Given the description of an element on the screen output the (x, y) to click on. 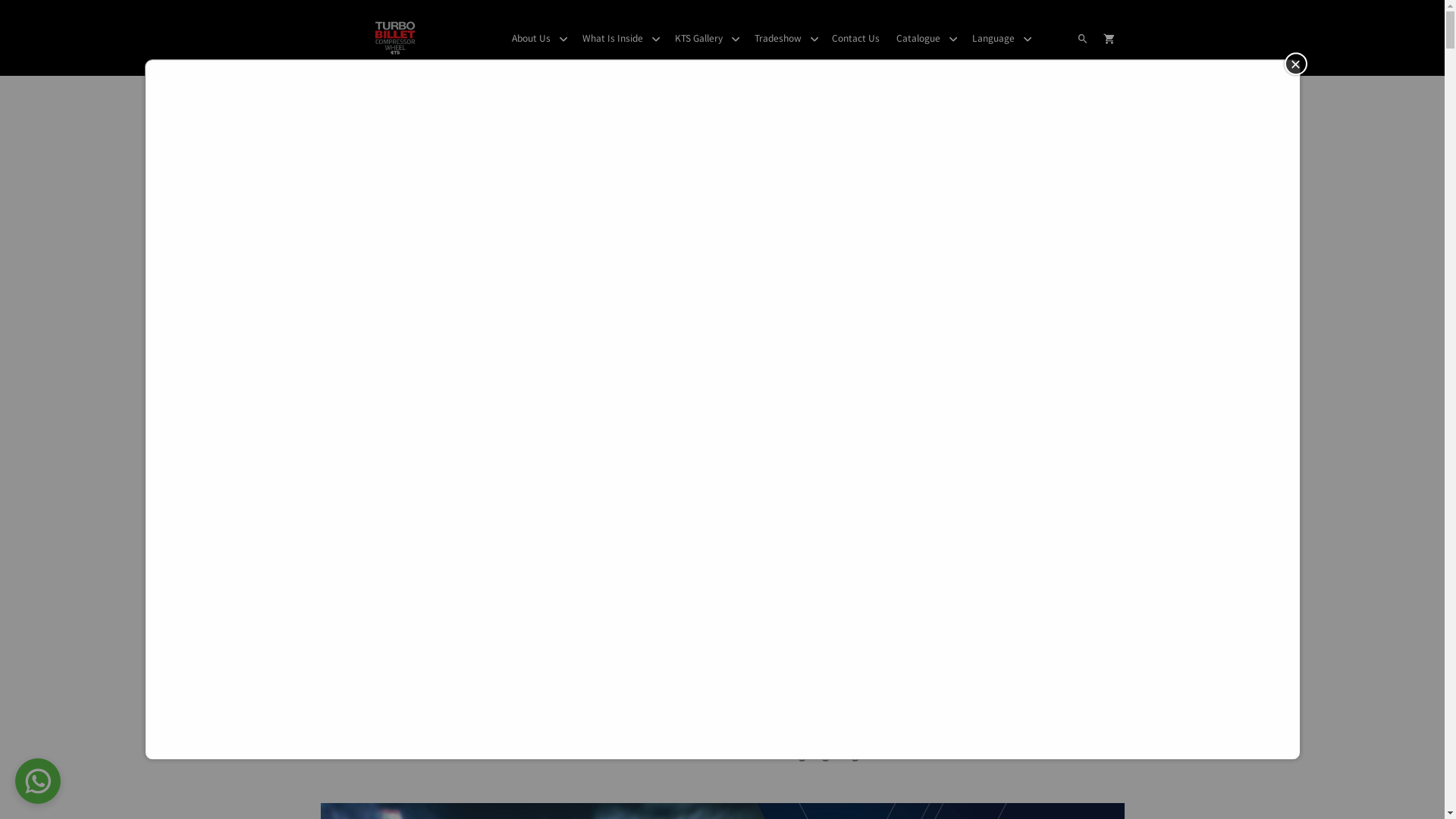
Pacifica Power Sdn Bhd Element type: hover (395, 37)
HOME Element type: text (641, 94)
Catalogue Element type: text (925, 37)
KTS Gallery Element type: text (705, 37)
Contact Us Element type: text (855, 37)
Language Element type: text (1000, 37)
About Us Element type: text (537, 37)
Tradeshow Element type: text (784, 37)
KTS TURBOBILLET X | GERMAN Element type: text (743, 94)
What Is Inside Element type: text (619, 37)
